Given the description of an element on the screen output the (x, y) to click on. 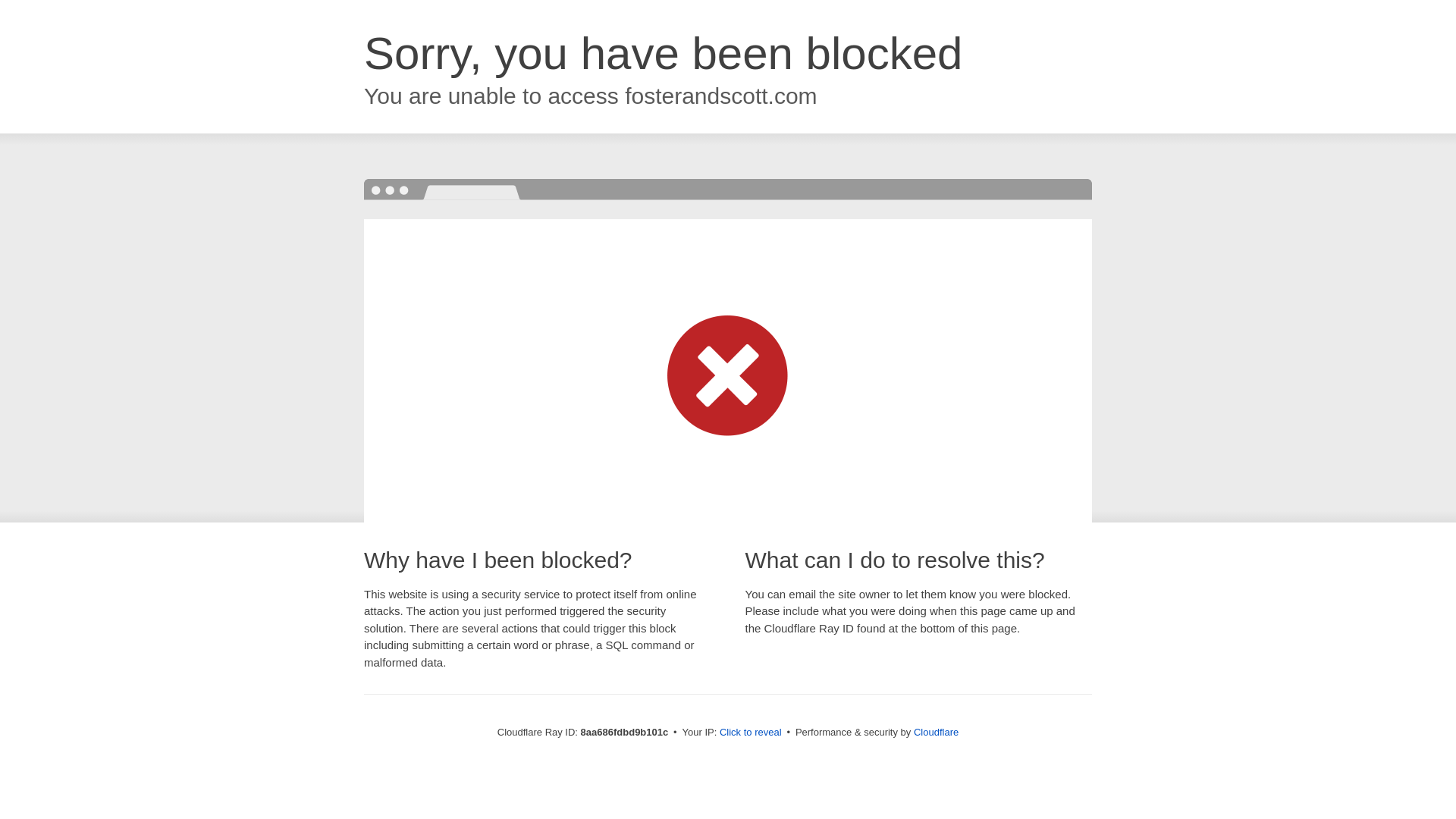
Cloudflare (936, 731)
Click to reveal (750, 732)
